Given the description of an element on the screen output the (x, y) to click on. 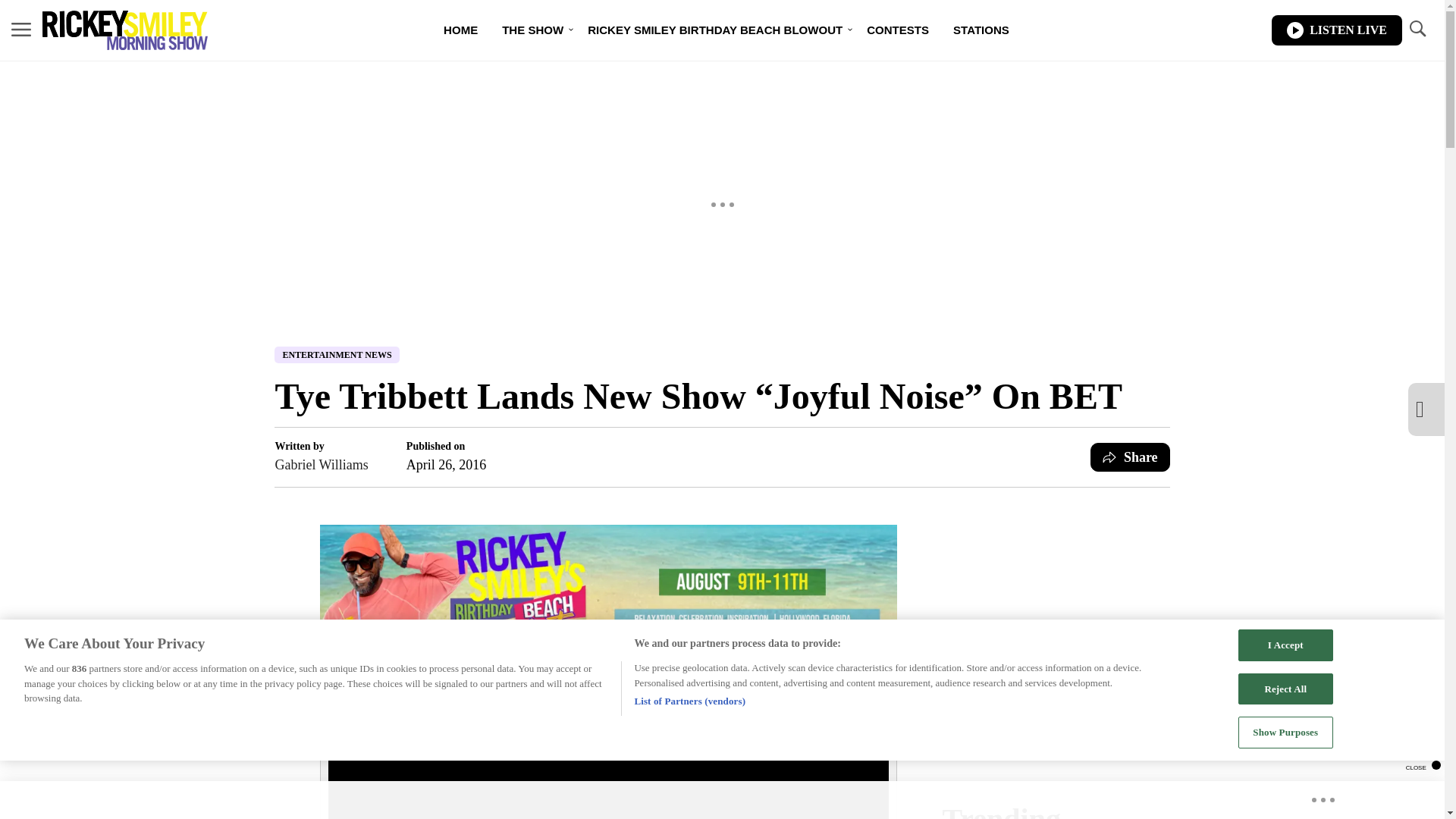
HOME (459, 30)
Stations (981, 30)
RICKEY SMILEY BIRTHDAY BEACH BLOWOUT (714, 30)
Share (1130, 457)
Gabriel Williams (321, 464)
LISTEN LIVE (1336, 30)
ENTERTAINMENT NEWS (336, 354)
MENU (20, 29)
STATIONS (981, 30)
MENU (20, 30)
TOGGLE SEARCH (1417, 28)
THE SHOW (532, 30)
CONTESTS (897, 30)
TOGGLE SEARCH (1417, 30)
